Given the description of an element on the screen output the (x, y) to click on. 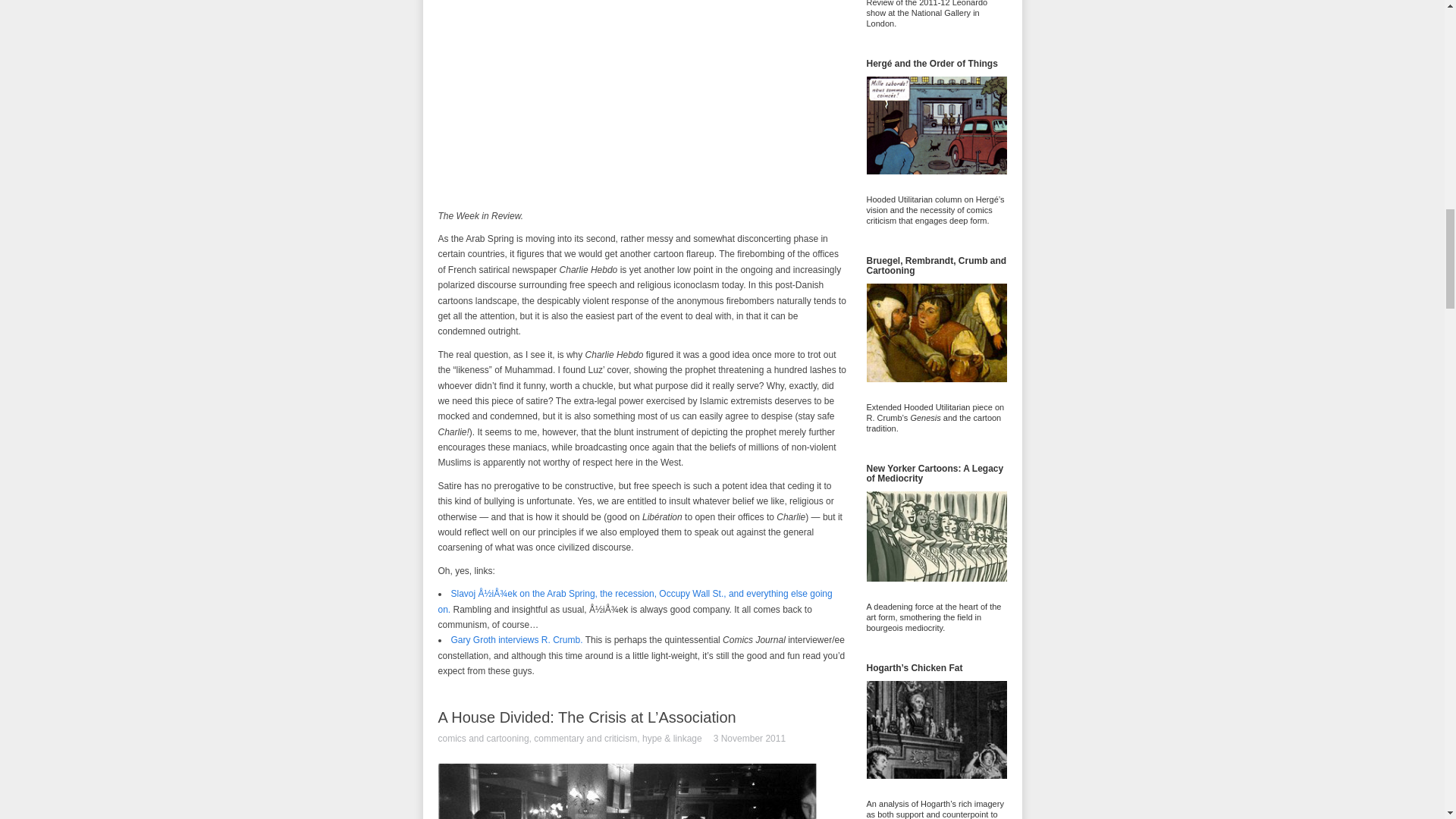
15:56 (749, 738)
